Given the description of an element on the screen output the (x, y) to click on. 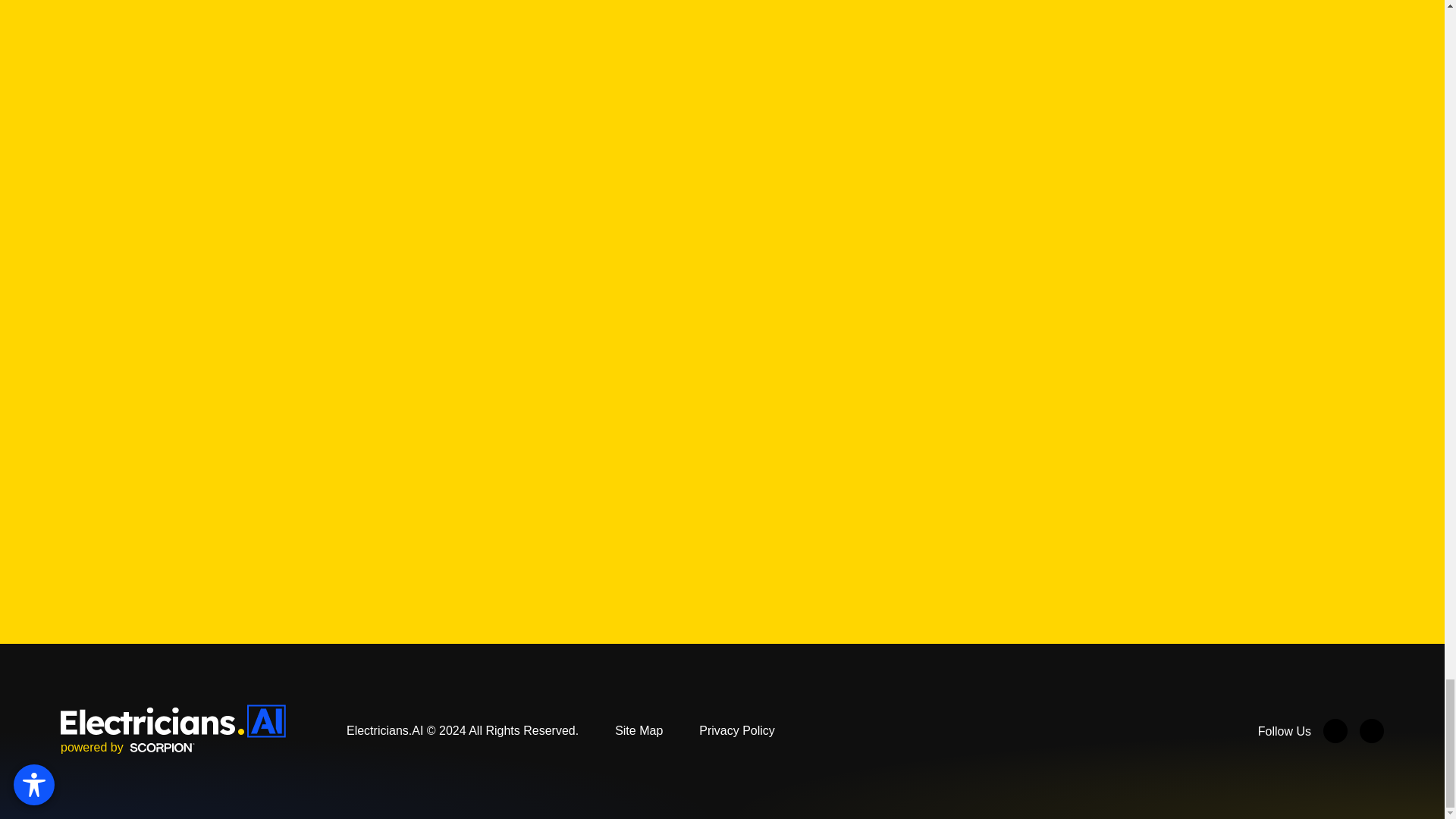
Instagram (1371, 730)
Electricians.AI (173, 720)
Site Map (638, 730)
Facebook (1335, 730)
powered by (128, 747)
Privacy Policy (736, 730)
